Given the description of an element on the screen output the (x, y) to click on. 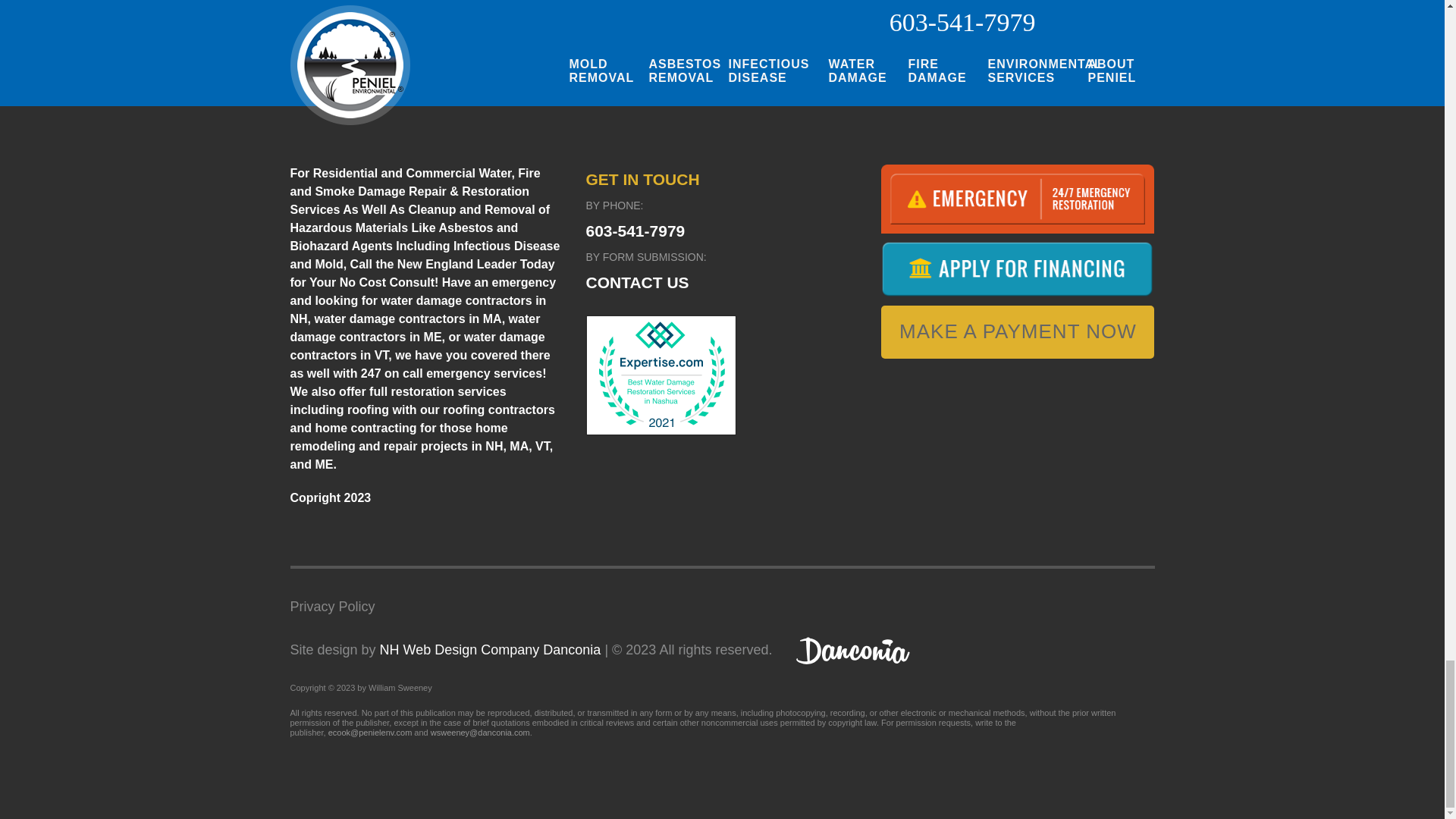
Make a Payment Now (1017, 331)
